Given the description of an element on the screen output the (x, y) to click on. 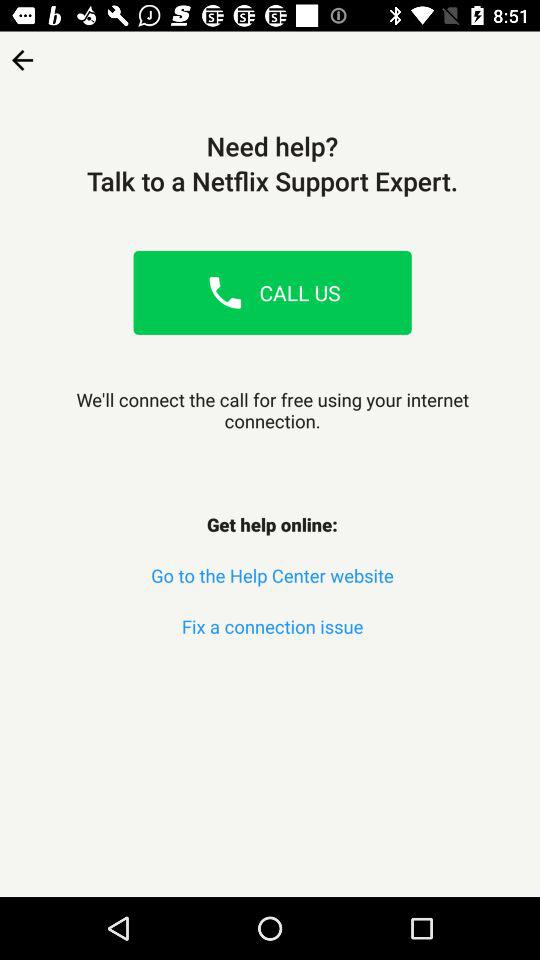
open icon next to the call us icon (225, 292)
